Given the description of an element on the screen output the (x, y) to click on. 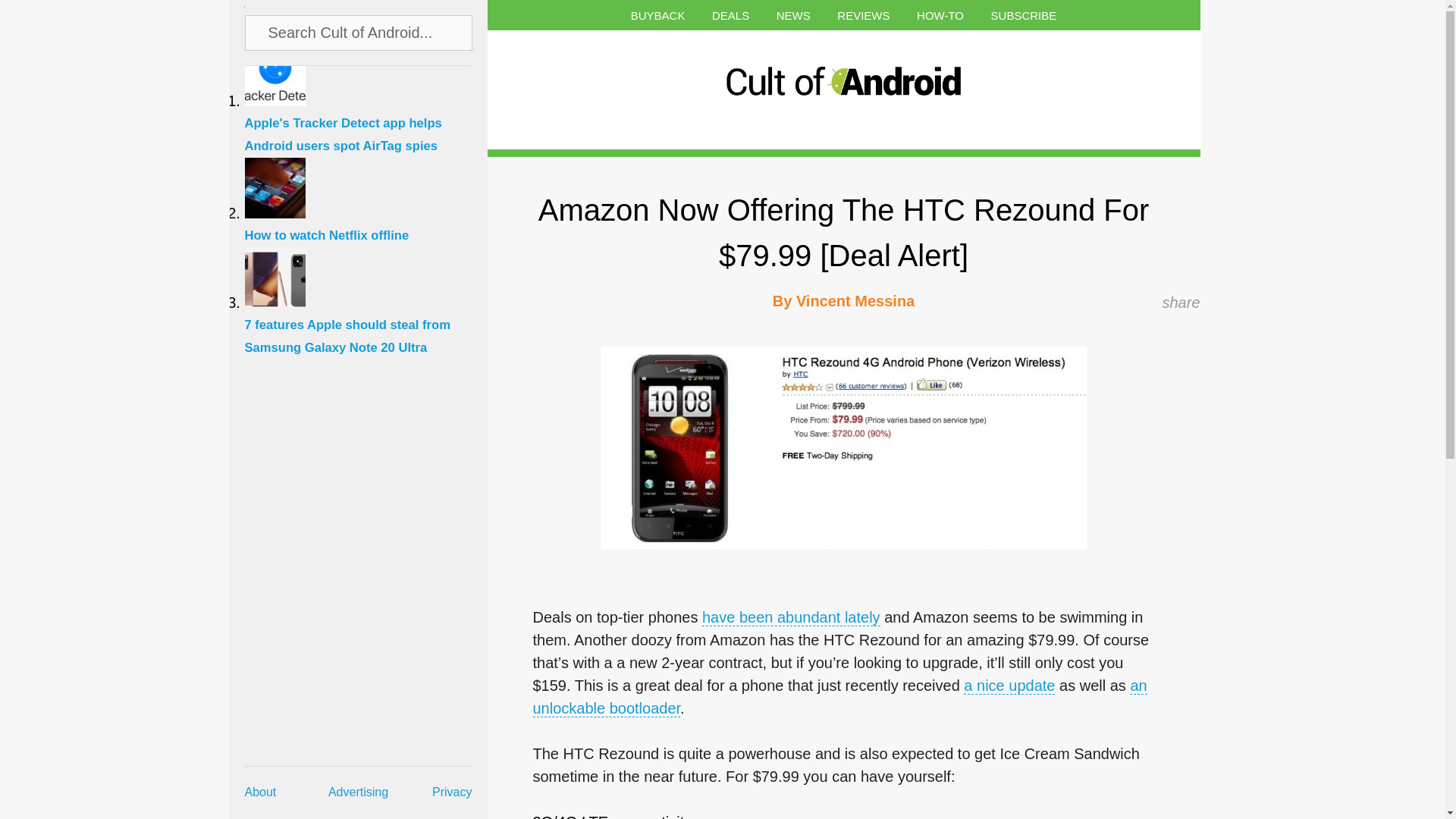
have been abundant lately (790, 617)
BUYBACK (657, 15)
an unlockable bootloader (839, 697)
Vincent Messina (855, 300)
amazonrezound (842, 447)
NEWS (793, 15)
HOW-TO (940, 15)
share (1180, 302)
Search Cult of Android... (358, 32)
REVIEWS (863, 15)
Advertising (358, 791)
a nice update (1008, 685)
About (260, 791)
DEALS (730, 15)
